Given the description of an element on the screen output the (x, y) to click on. 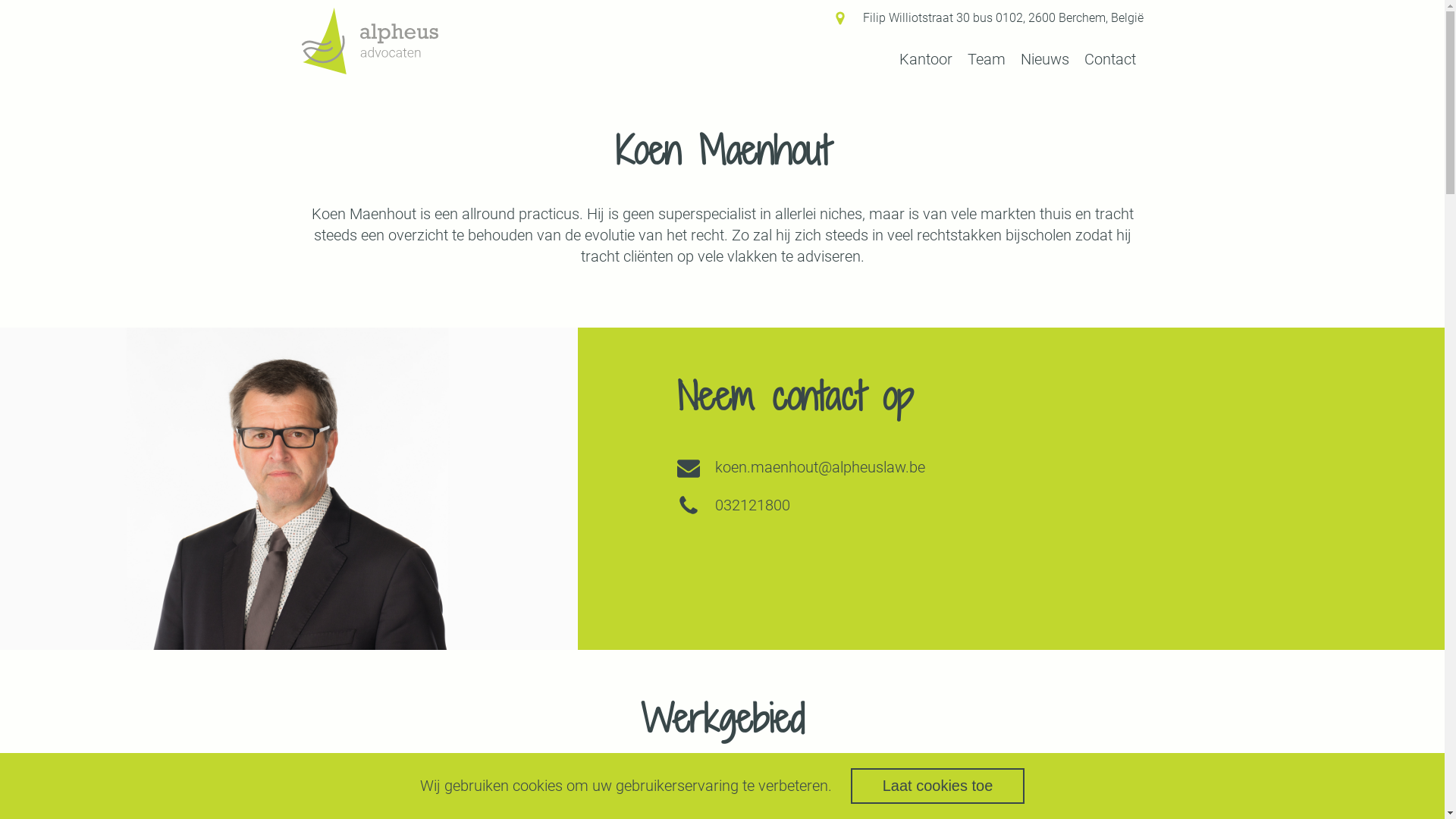
Kantoor Element type: text (925, 58)
koen.maenhout@alpheuslaw.be Element type: text (906, 467)
Team Element type: text (986, 58)
Contact Element type: text (1109, 58)
Nieuws Element type: text (1044, 58)
Laat cookies toe Element type: text (937, 785)
032121800 Element type: text (906, 505)
